Given the description of an element on the screen output the (x, y) to click on. 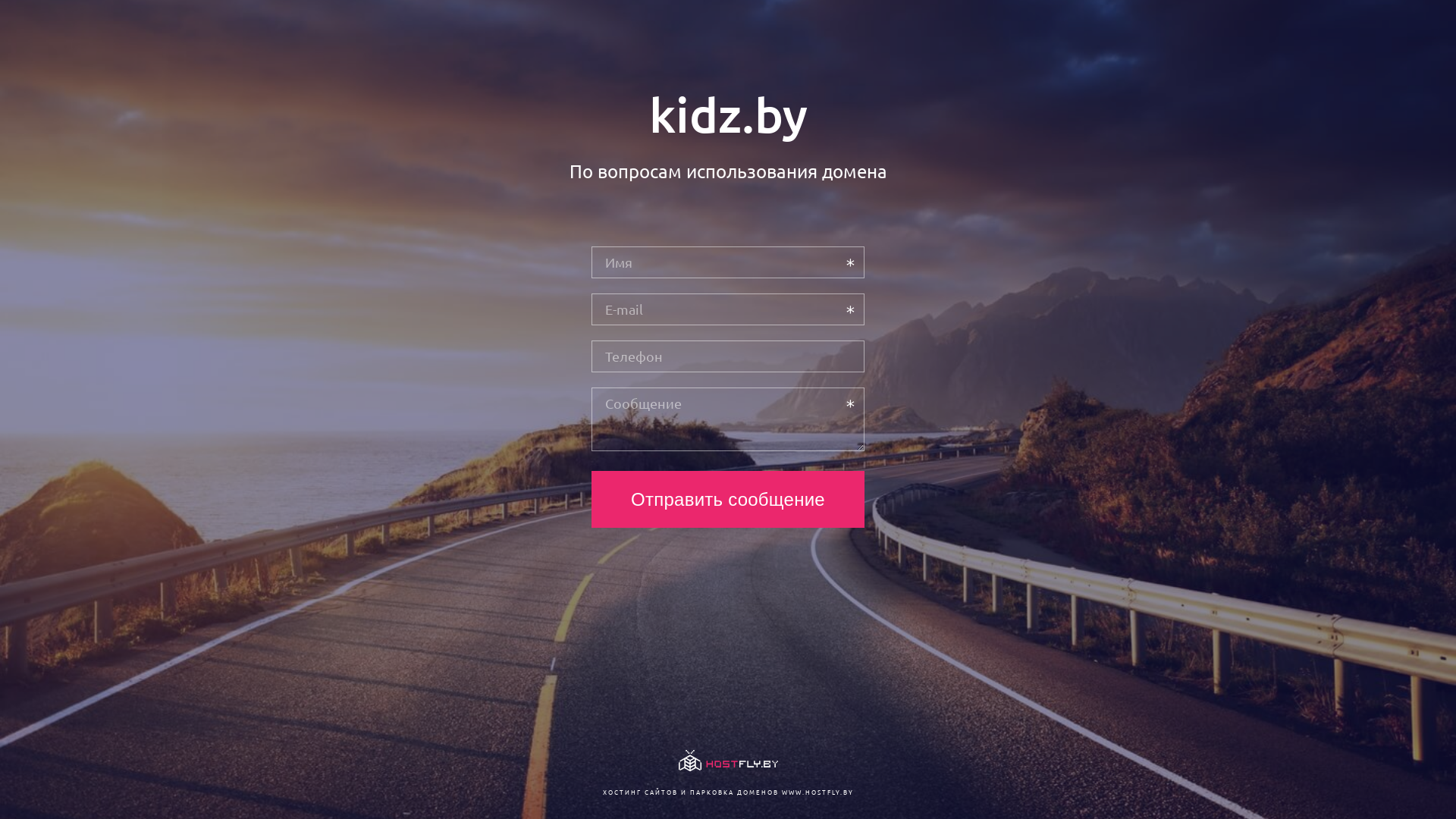
WWW.HOSTFLY.BY Element type: text (817, 791)
